Given the description of an element on the screen output the (x, y) to click on. 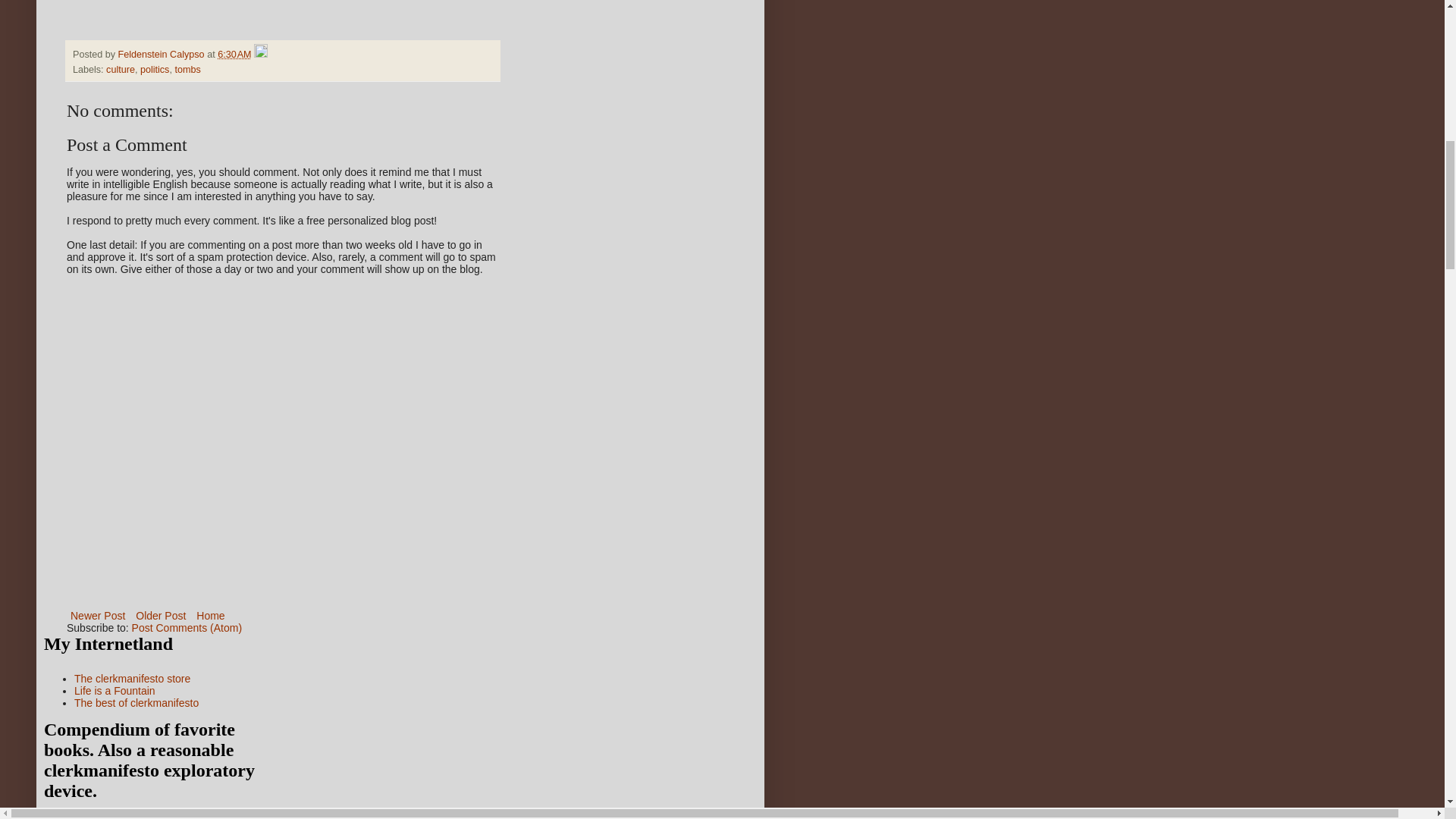
author profile (162, 54)
politics (154, 69)
Newer Post (97, 615)
Home (210, 615)
Life is a Fountain (114, 690)
Edit Post (260, 54)
culture (120, 69)
The clerkmanifesto store (132, 678)
Older Post (160, 615)
Older Post (160, 615)
Newer Post (97, 615)
permanent link (233, 54)
tombs (187, 69)
Feldenstein Calypso (162, 54)
